Given the description of an element on the screen output the (x, y) to click on. 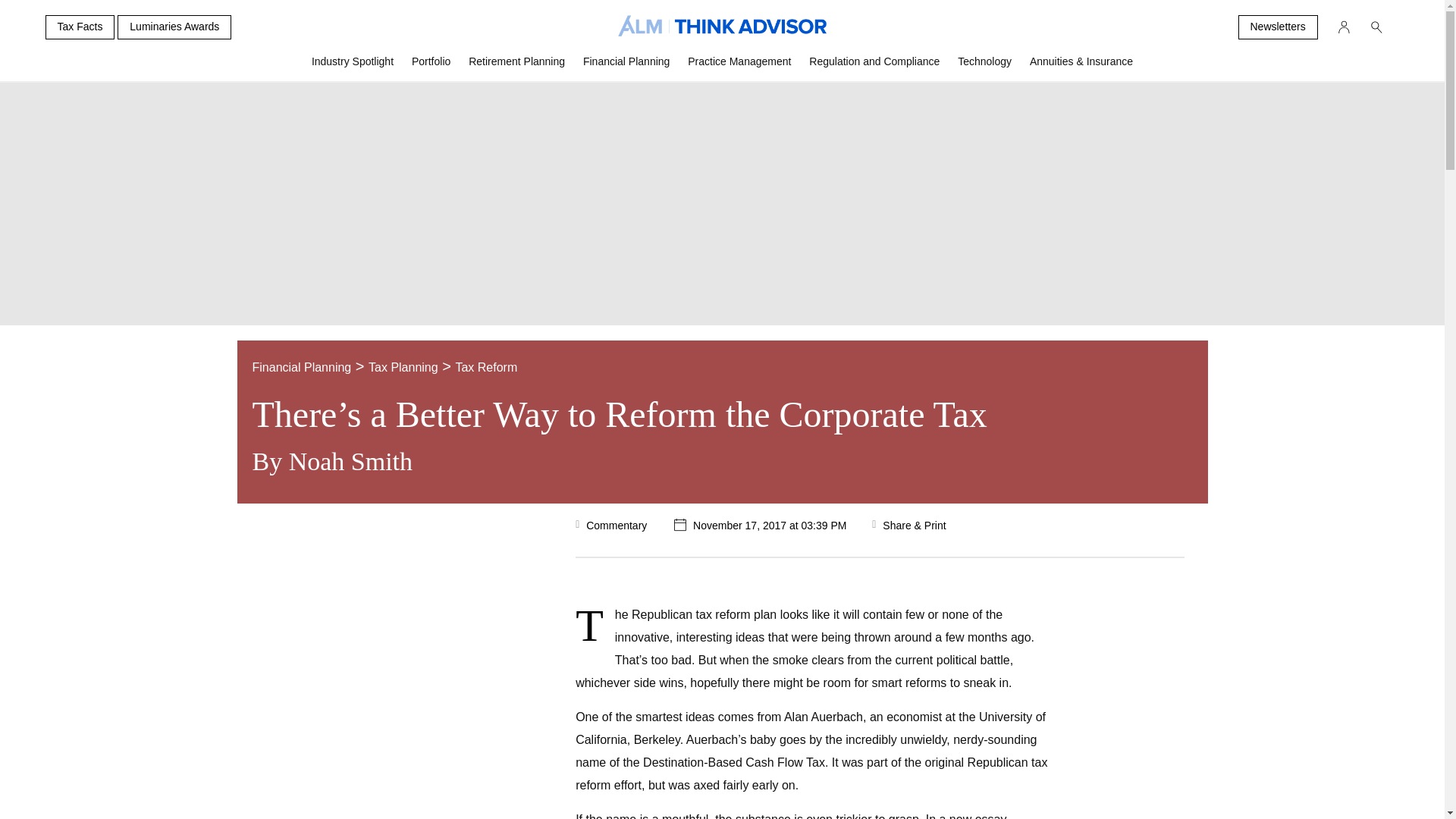
Industry Spotlight (352, 67)
Newsletters (1277, 27)
Tax Facts (80, 27)
Luminaries Awards (174, 27)
